Given the description of an element on the screen output the (x, y) to click on. 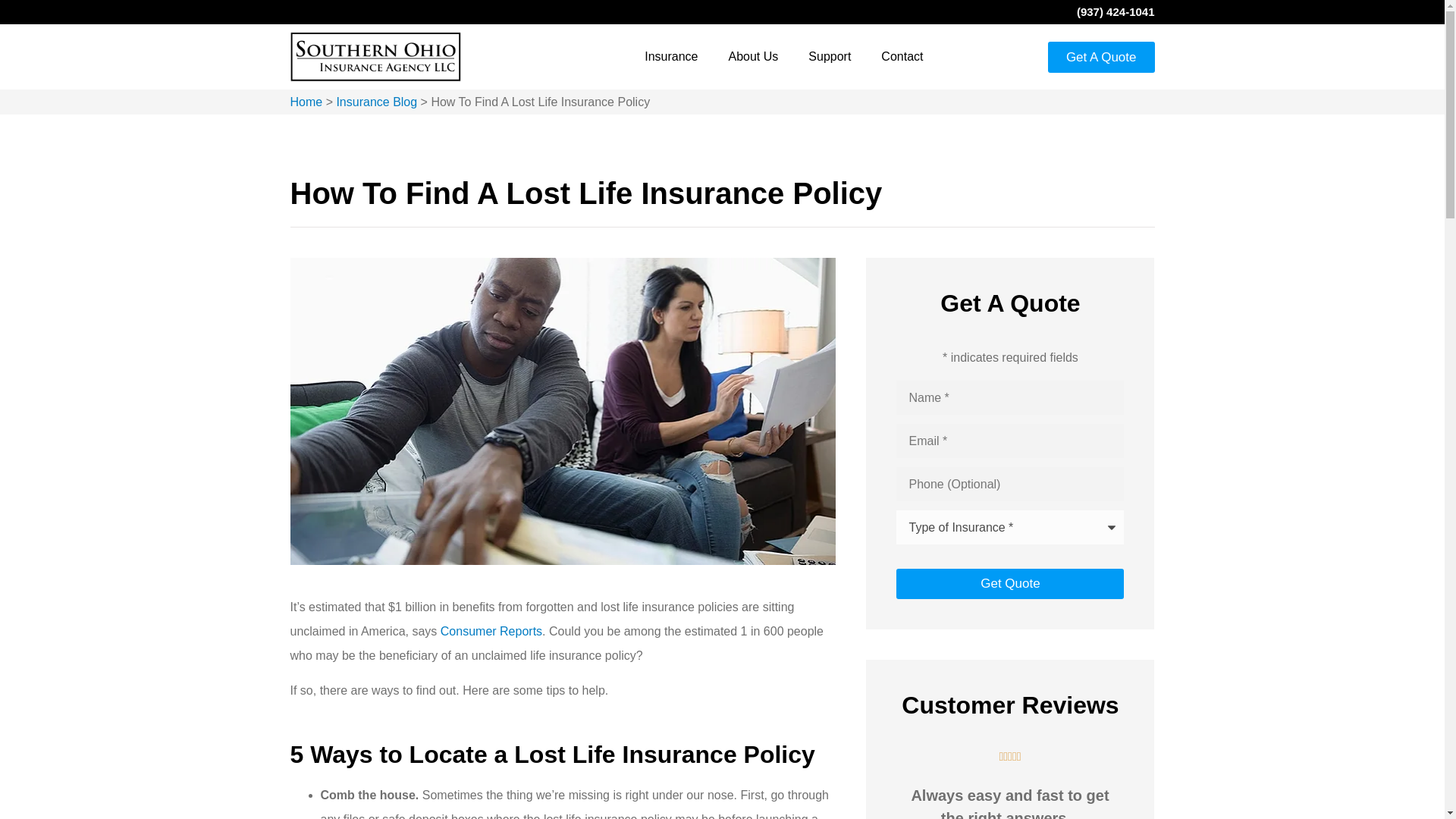
Get Quote (1010, 583)
Insurance (670, 56)
About Us (753, 56)
Support (829, 56)
Contact (901, 56)
